Given the description of an element on the screen output the (x, y) to click on. 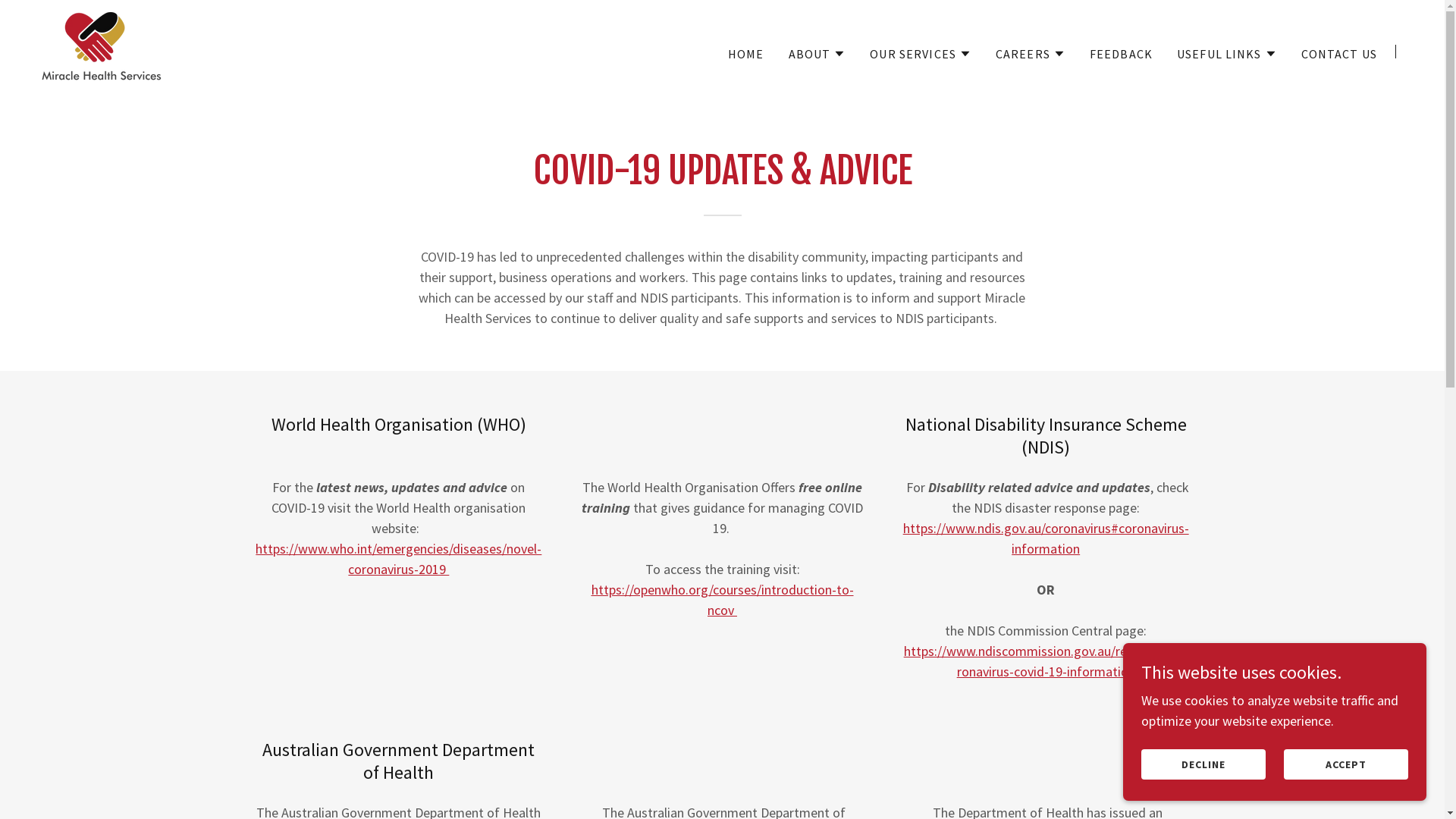
Miracle Health Services Element type: hover (101, 49)
HOME Element type: text (745, 52)
FEEDBACK Element type: text (1121, 52)
OUR SERVICES Element type: text (920, 52)
https://openwho.org/courses/introduction-to-ncov  Element type: text (722, 599)
ACCEPT Element type: text (1345, 764)
USEFUL LINKS Element type: text (1226, 52)
CAREERS Element type: text (1030, 52)
DECLINE Element type: text (1203, 764)
CONTACT US Element type: text (1338, 52)
https://www.ndis.gov.au/coronavirus#coronavirus-information Element type: text (1046, 538)
ABOUT Element type: text (817, 52)
